Given the description of an element on the screen output the (x, y) to click on. 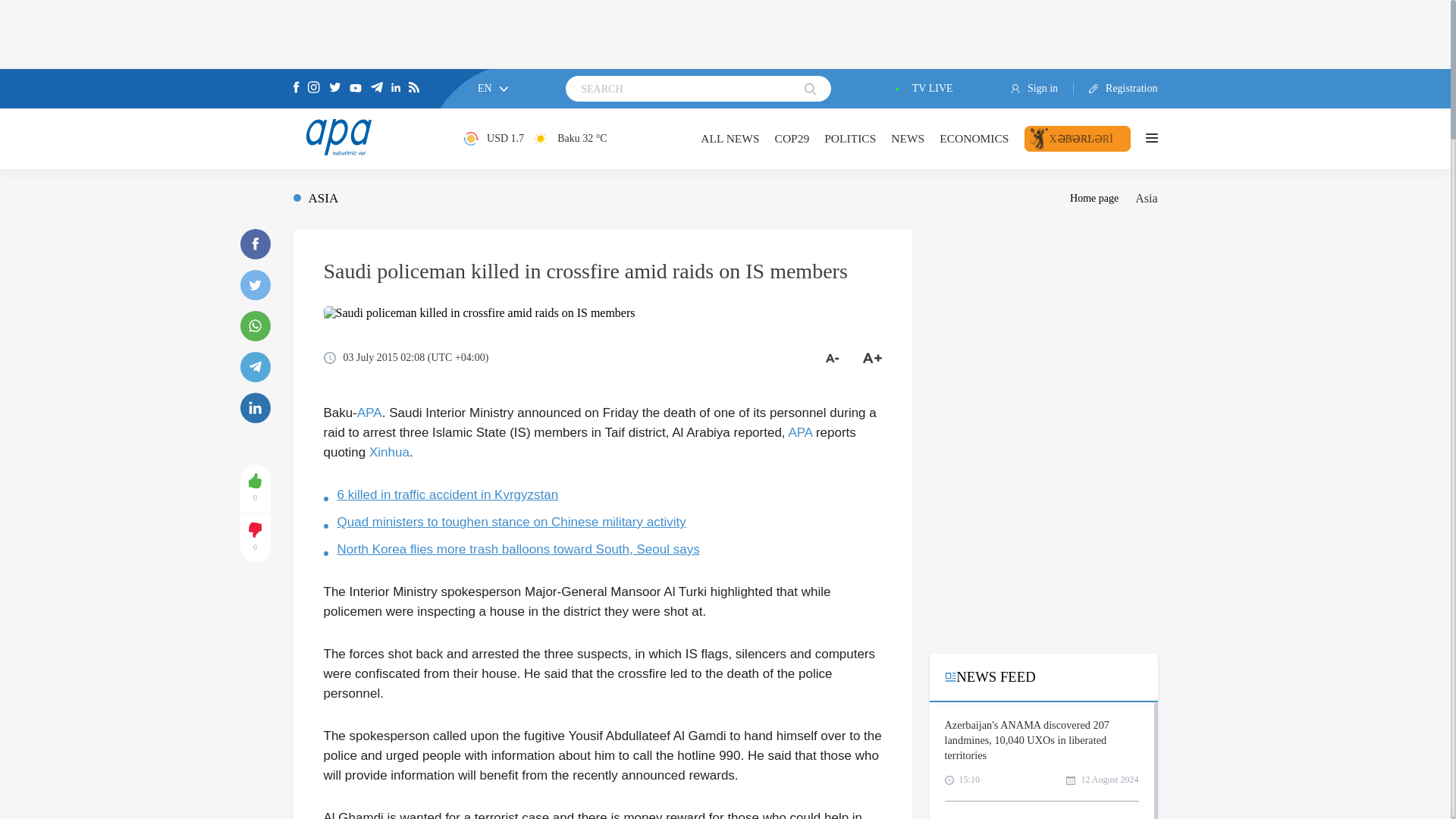
ECONOMICS (974, 138)
ALL NEWS (729, 138)
USD 1.7 (493, 138)
COP29 (791, 138)
TV LIVE (921, 88)
Registration (1115, 88)
Sign in (1042, 88)
NEWS (907, 138)
POLITICS (850, 138)
